Given the description of an element on the screen output the (x, y) to click on. 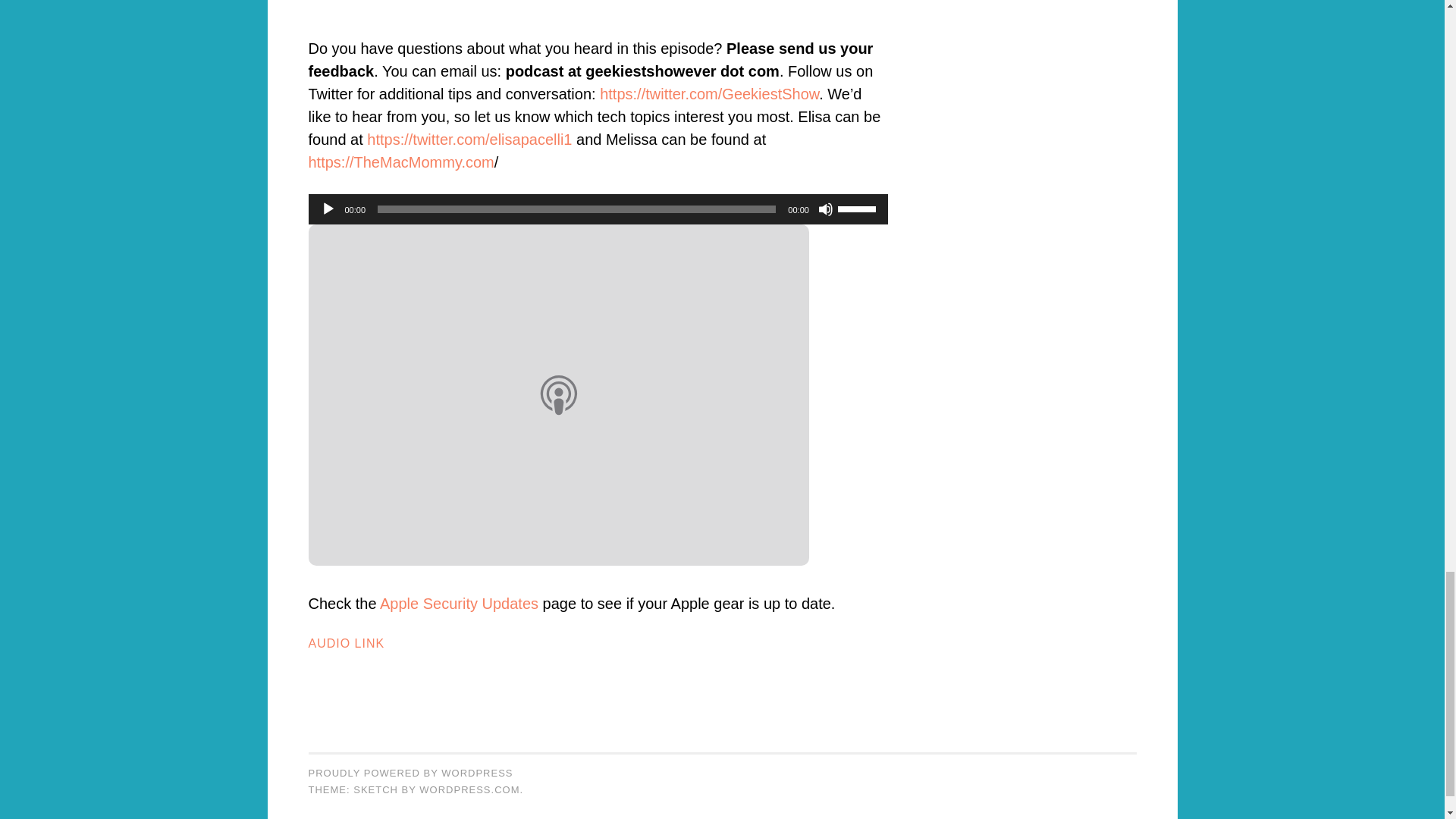
Play (327, 209)
AUDIO LINK (345, 643)
Apple Security Updates (459, 603)
Mute (825, 209)
